Given the description of an element on the screen output the (x, y) to click on. 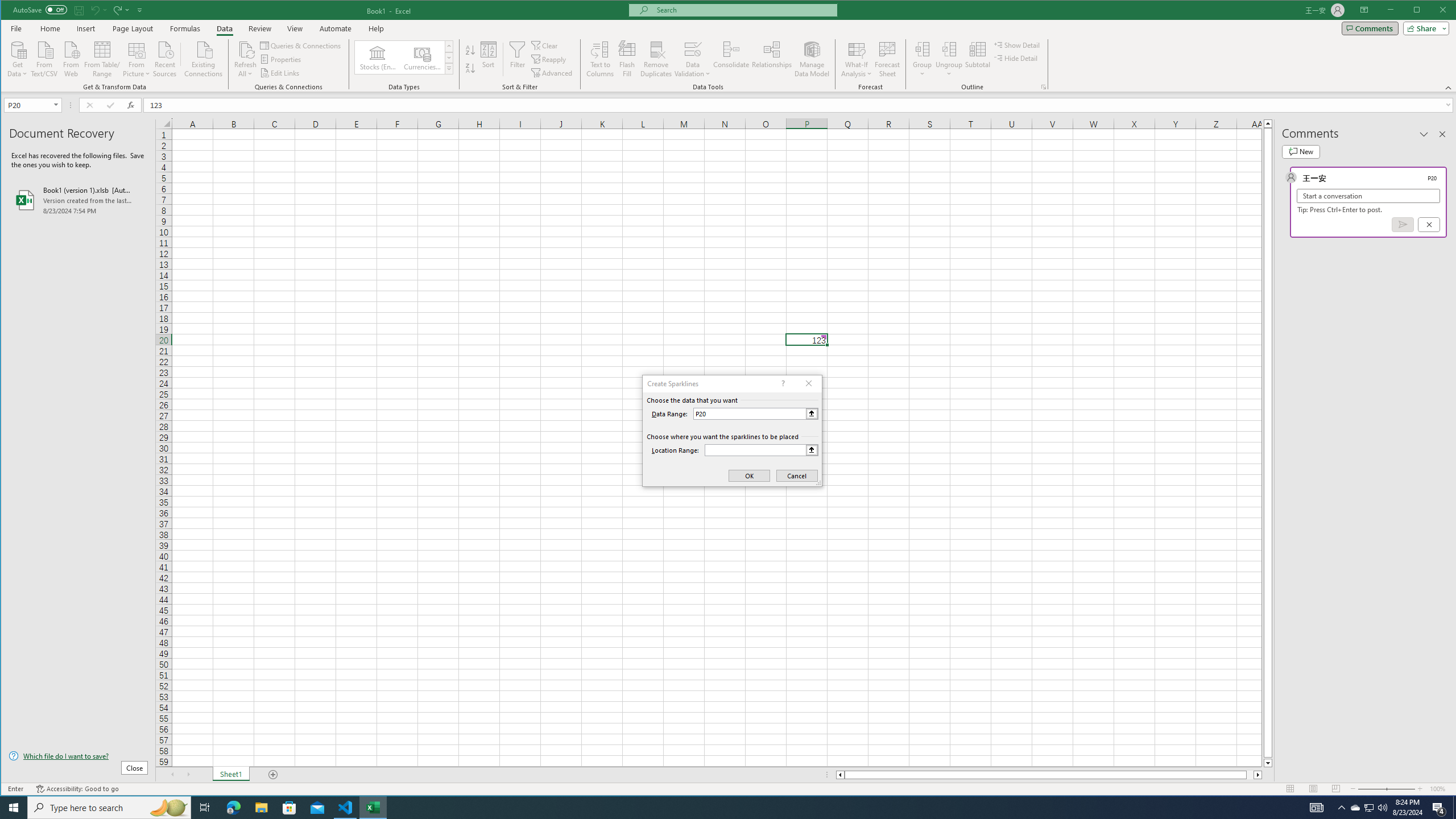
Maximize (1432, 11)
Sort Largest to Smallest (470, 68)
